Given the description of an element on the screen output the (x, y) to click on. 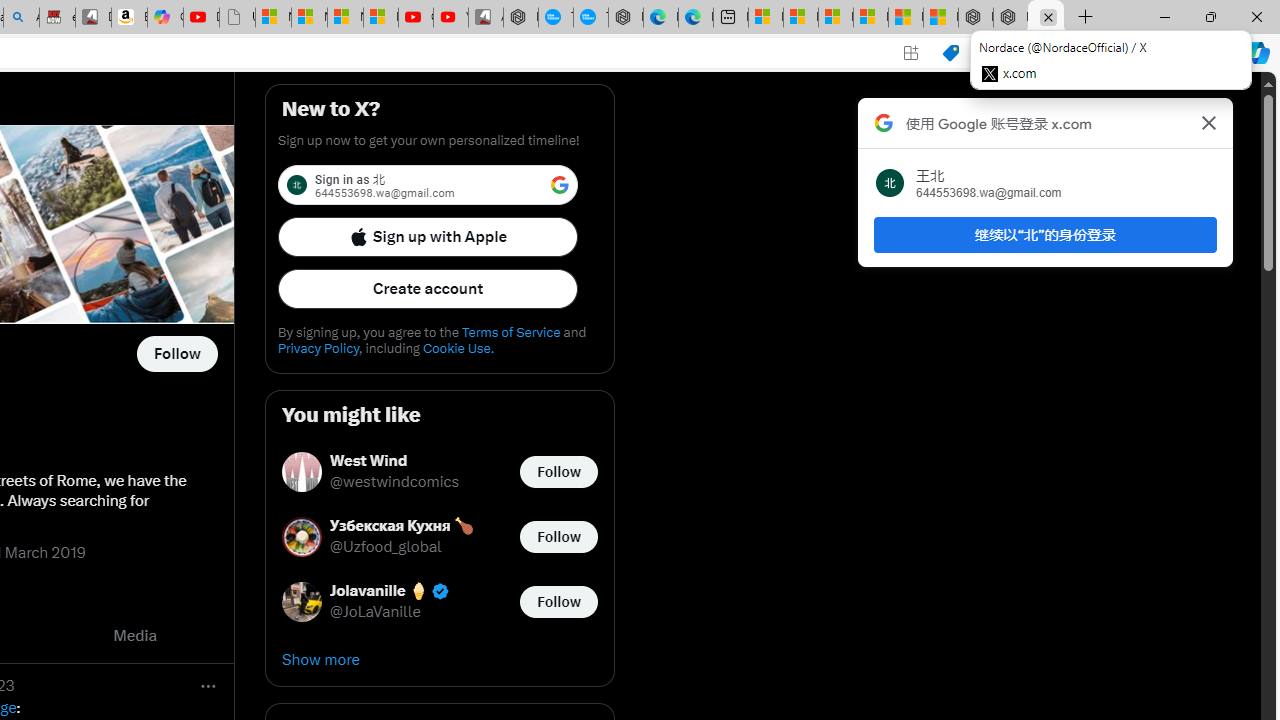
Class: Bz112c Bz112c-r9oPif (1208, 122)
Media (135, 636)
